Given the description of an element on the screen output the (x, y) to click on. 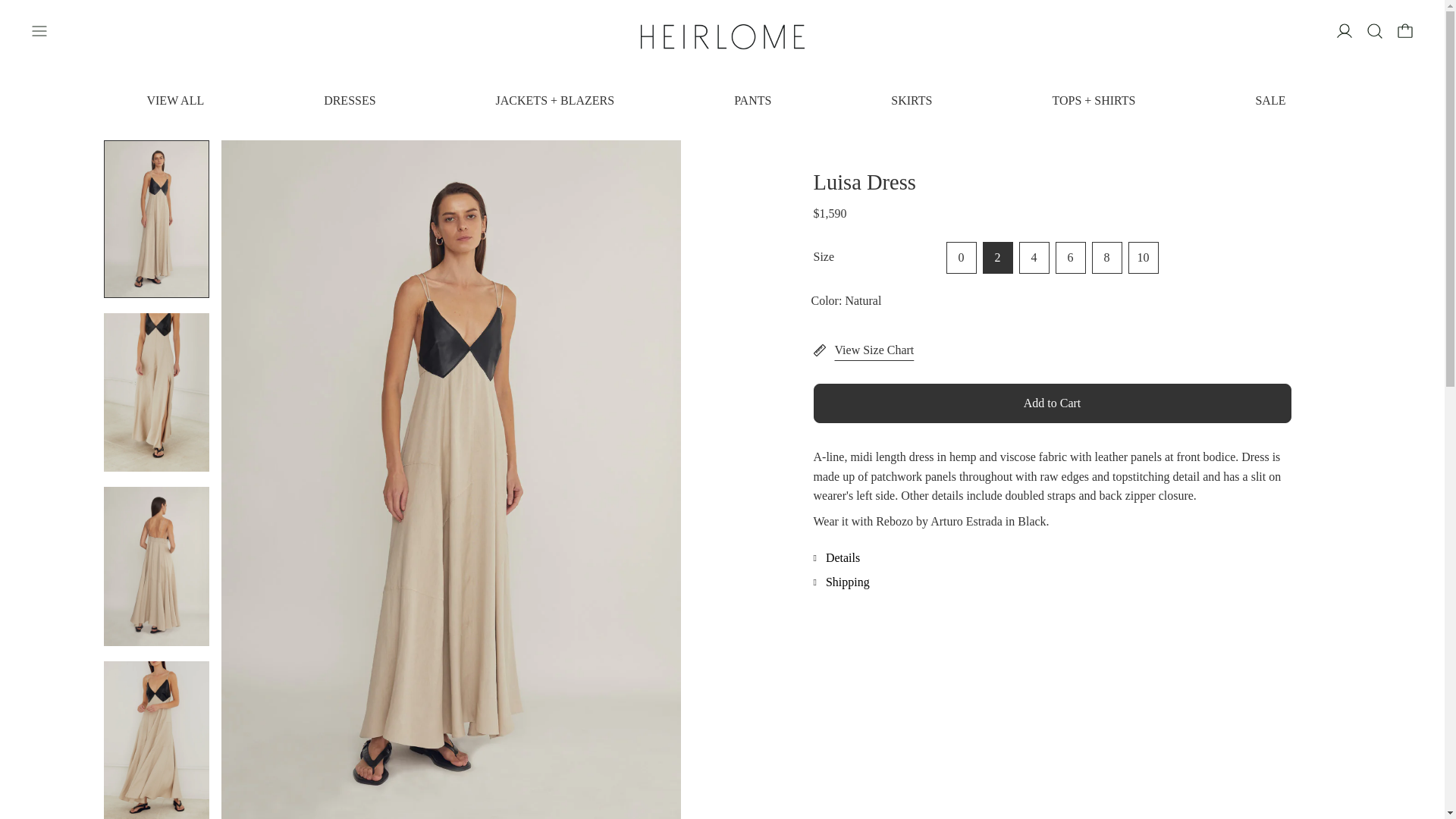
SALE (1270, 100)
Add to Cart (1051, 403)
Menu (39, 31)
Details (1051, 557)
VIEW ALL (175, 100)
View Size Chart (1051, 350)
Page 1 (1051, 488)
PANTS (752, 100)
Shipping (1051, 582)
DRESSES (349, 100)
SKIRTS (911, 100)
